Given the description of an element on the screen output the (x, y) to click on. 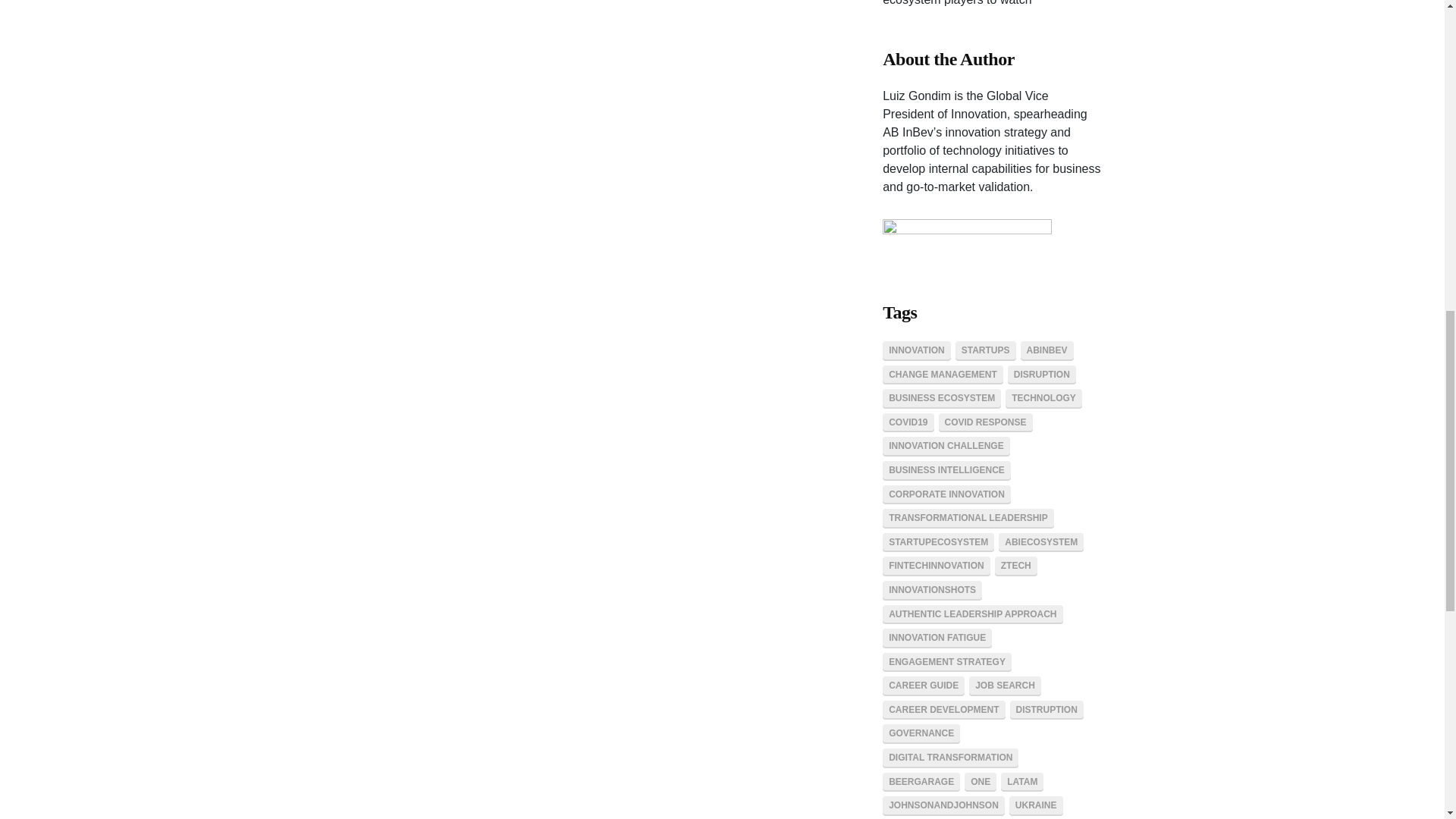
FINTECHINNOVATION (936, 566)
CHANGE MANAGEMENT (942, 374)
BUSINESS INTELLIGENCE (946, 470)
STARTUPS (985, 351)
INNOVATION (916, 351)
DISRUPTION (1041, 374)
COVID RESPONSE (985, 423)
ZTECH (1015, 566)
TECHNOLOGY (1043, 398)
STARTUPECOSYSTEM (938, 542)
ABINBEV (1047, 351)
INNOVATION CHALLENGE (946, 446)
INNOVATIONSHOTS (931, 590)
AUTHENTIC LEADERSHIP APPROACH (972, 614)
INNOVATION FATIGUE (936, 638)
